Given the description of an element on the screen output the (x, y) to click on. 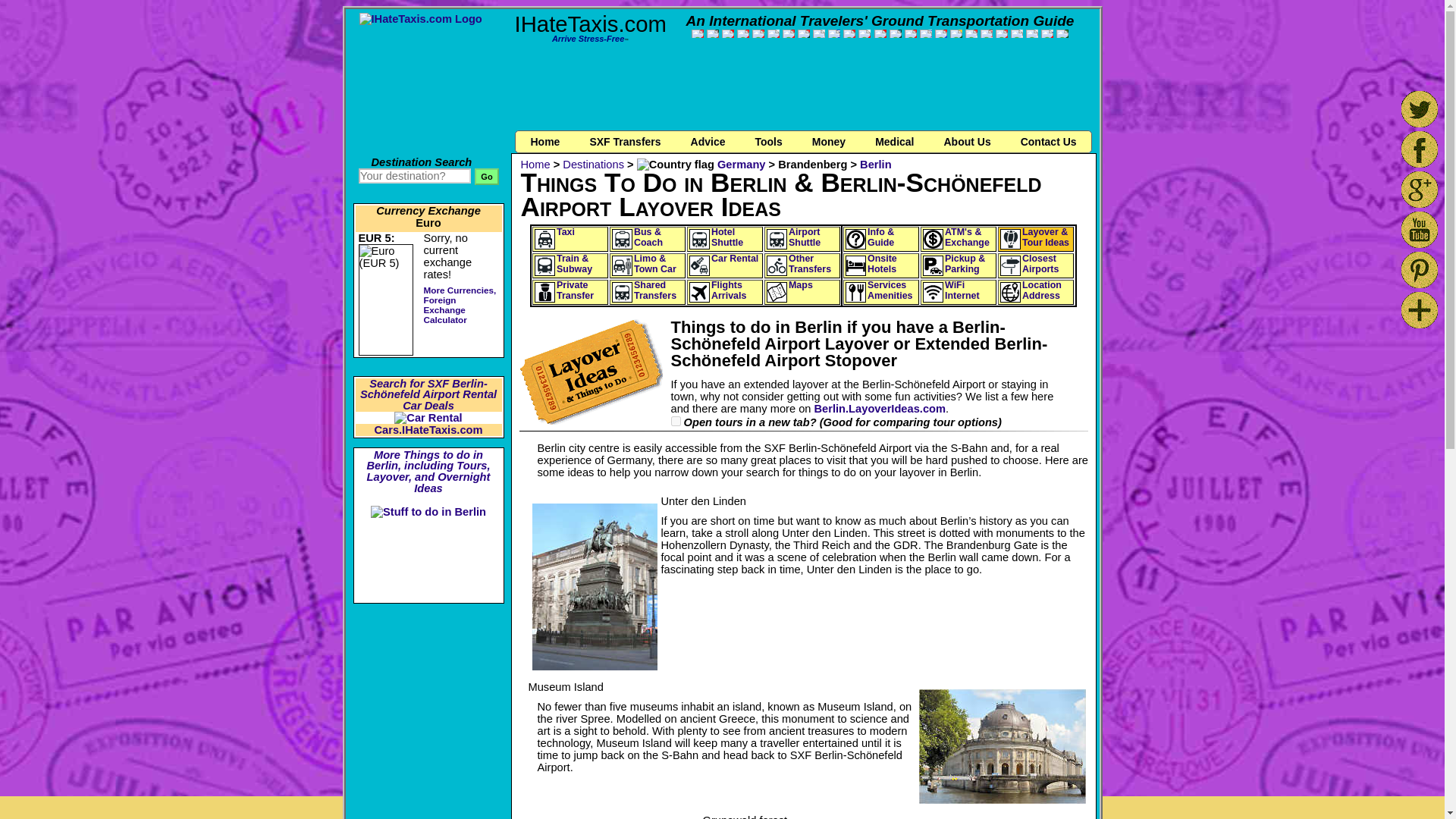
Home (545, 141)
Turkish (910, 33)
IHateTaxis.com Main Page (420, 19)
Tools (767, 141)
Deutsch (712, 33)
SXF Transfers (624, 141)
Hindi (956, 33)
Nederlandse (803, 33)
Greek (834, 33)
Advice (707, 141)
Indonesian (970, 33)
Hebrew (925, 33)
Czech (772, 33)
Italiano (727, 33)
Romanian (879, 33)
